Given the description of an element on the screen output the (x, y) to click on. 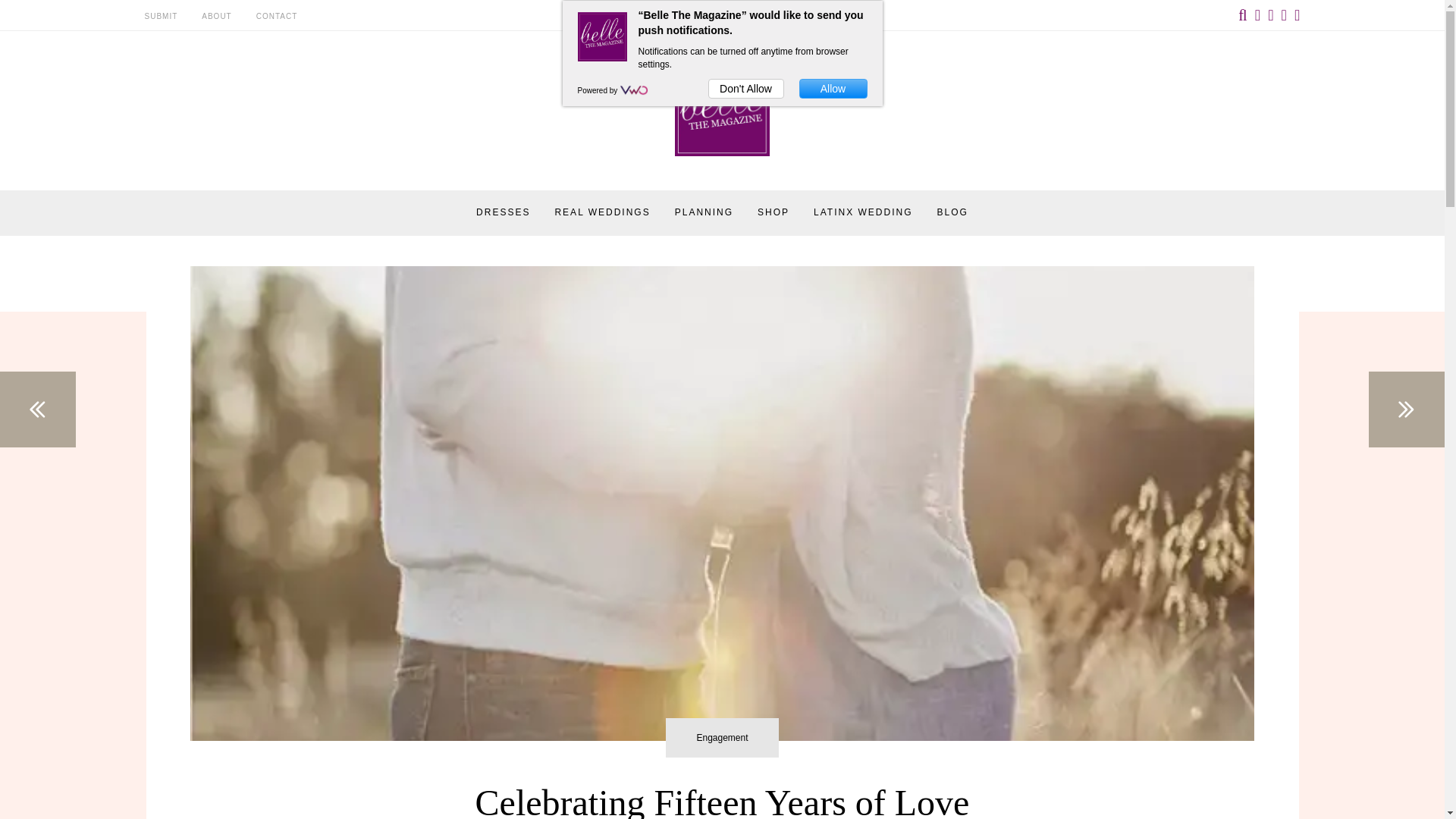
PLANNING (704, 212)
SUBMIT (160, 16)
LATINX WEDDING (862, 212)
Belle The Magazine (726, 179)
CONTACT (277, 16)
REAL WEDDINGS (601, 212)
ABOUT (216, 16)
DRESSES (502, 212)
Engagement (721, 737)
